Given the description of an element on the screen output the (x, y) to click on. 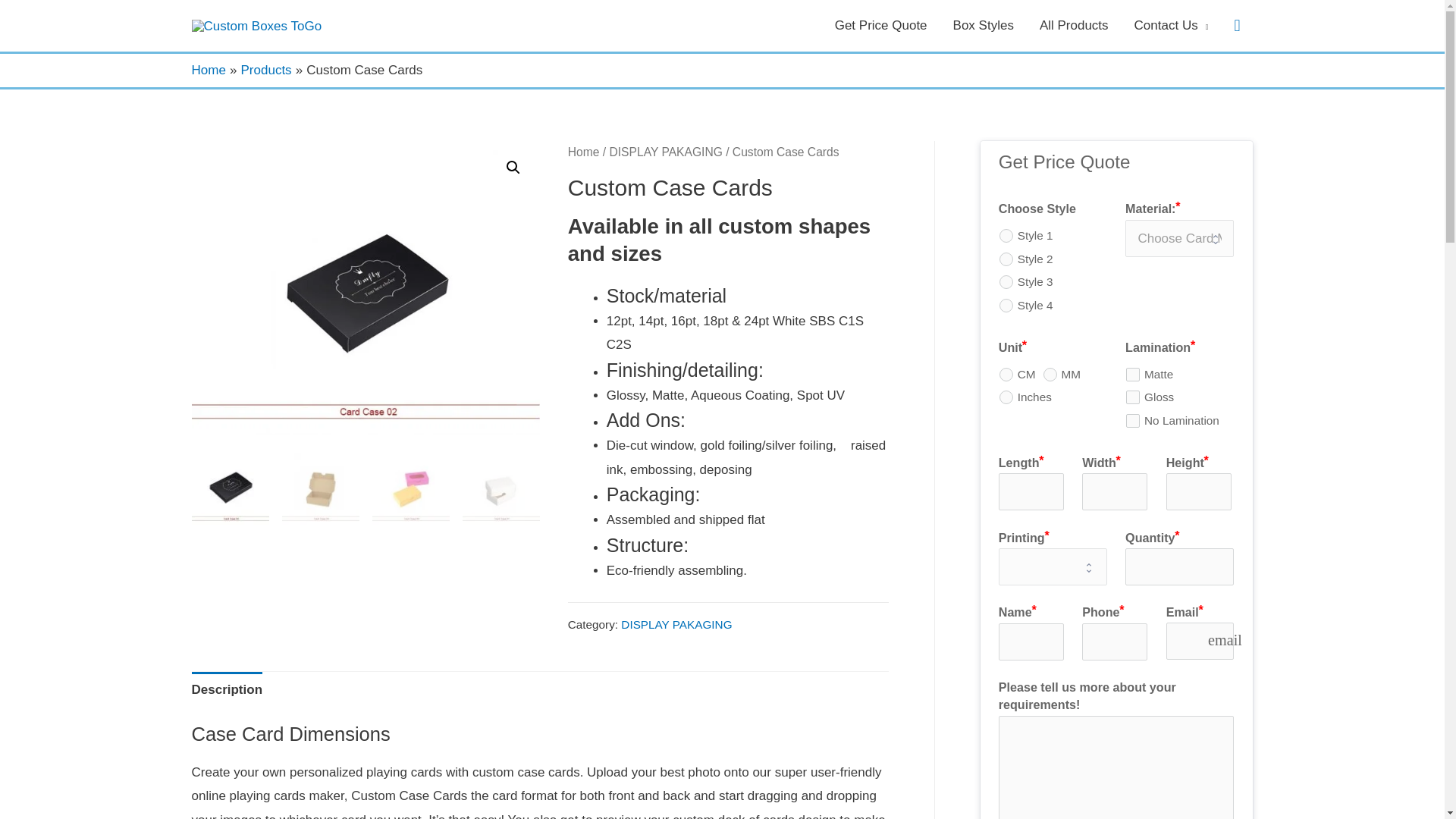
Get Price Quote (881, 25)
Contact Us (1171, 25)
Gloss (1132, 397)
Description (226, 690)
Card Case 02 (365, 287)
Products (266, 69)
MM (1050, 374)
Inches (1005, 397)
All Products (1073, 25)
Home (583, 151)
Box Styles (983, 25)
Style 1 (1005, 235)
Style 2 (1005, 259)
No Lamination (1132, 420)
Style 4 (1005, 305)
